Given the description of an element on the screen output the (x, y) to click on. 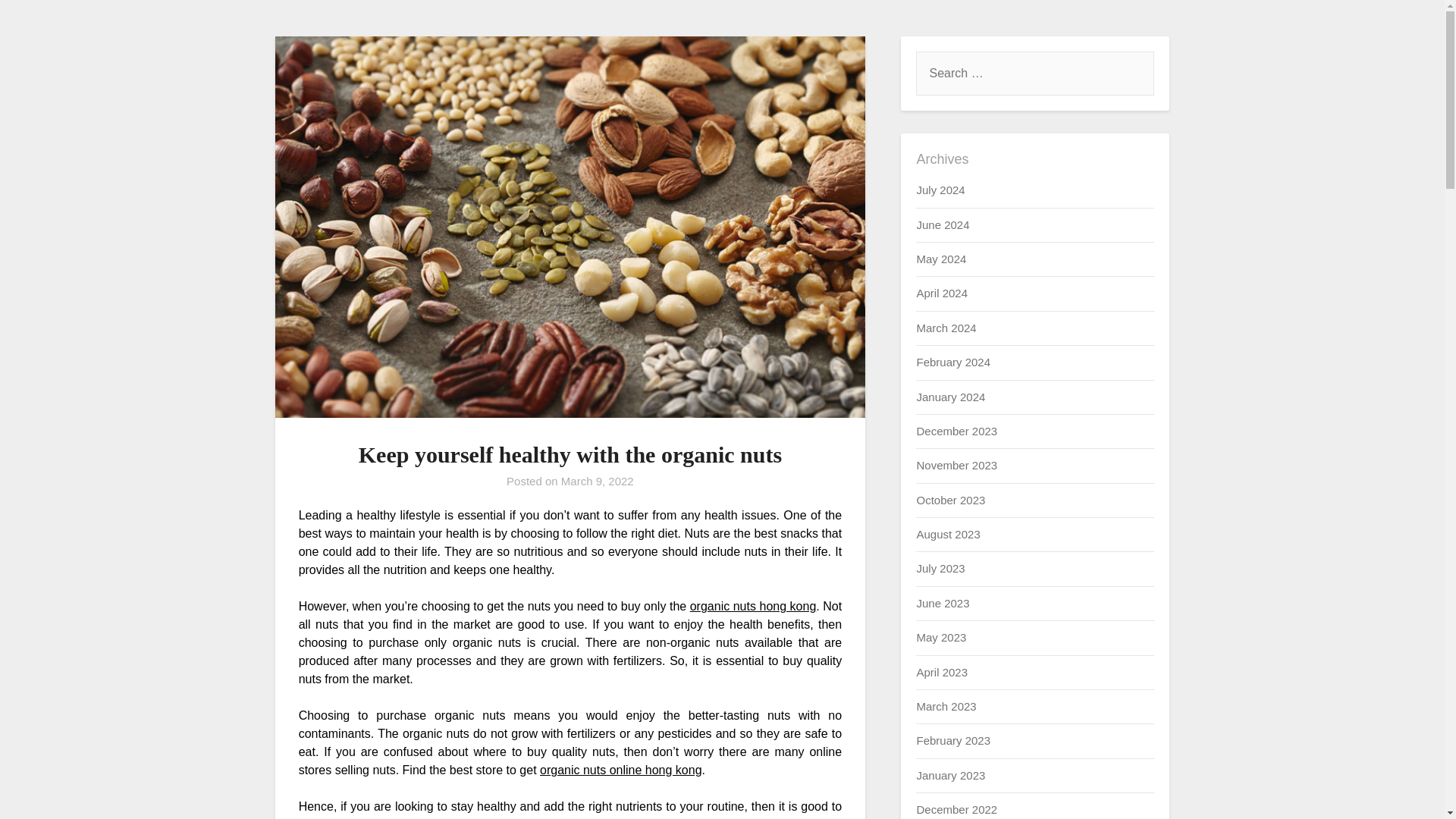
February 2023 (952, 739)
March 9, 2022 (596, 481)
organic nuts hong kong (753, 605)
November 2023 (956, 464)
June 2023 (942, 603)
March 2024 (945, 327)
July 2024 (939, 189)
February 2024 (952, 361)
June 2024 (942, 224)
April 2024 (941, 292)
